Given the description of an element on the screen output the (x, y) to click on. 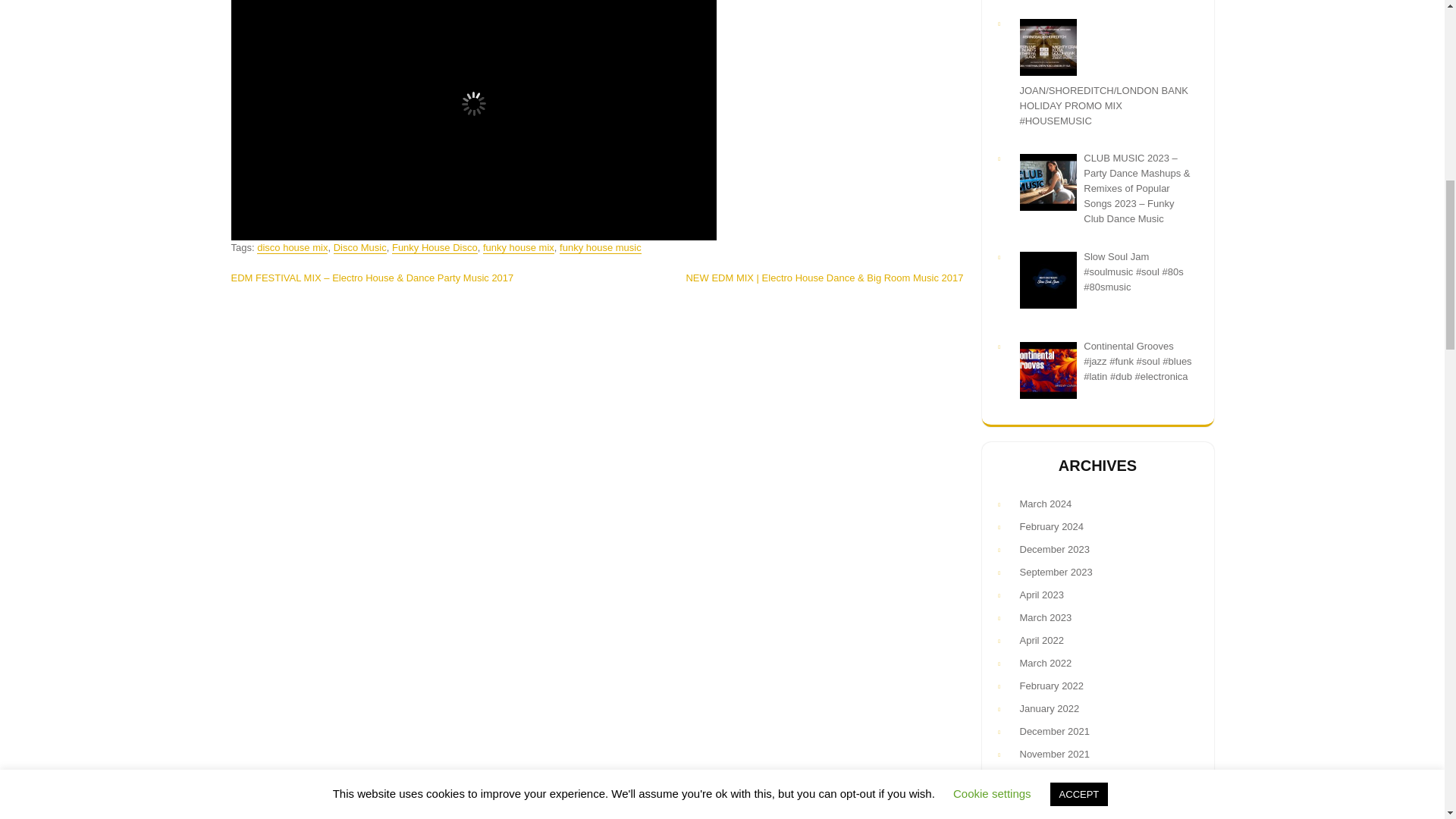
April 2023 (1093, 595)
Disco Music (360, 247)
March 2023 (1093, 617)
September 2023 (1093, 572)
December 2023 (1093, 549)
funky house mix (518, 247)
funky house music (600, 247)
disco house mix (292, 247)
Funky House Disco (434, 247)
April 2022 (1093, 640)
February 2024 (1093, 526)
March 2024 (1093, 503)
